Given the description of an element on the screen output the (x, y) to click on. 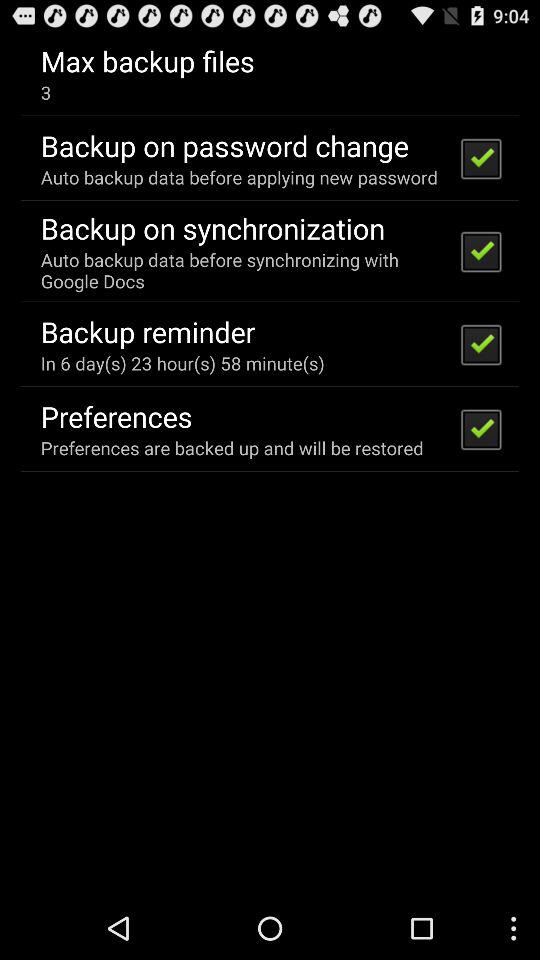
tap the preferences are backed icon (231, 447)
